Given the description of an element on the screen output the (x, y) to click on. 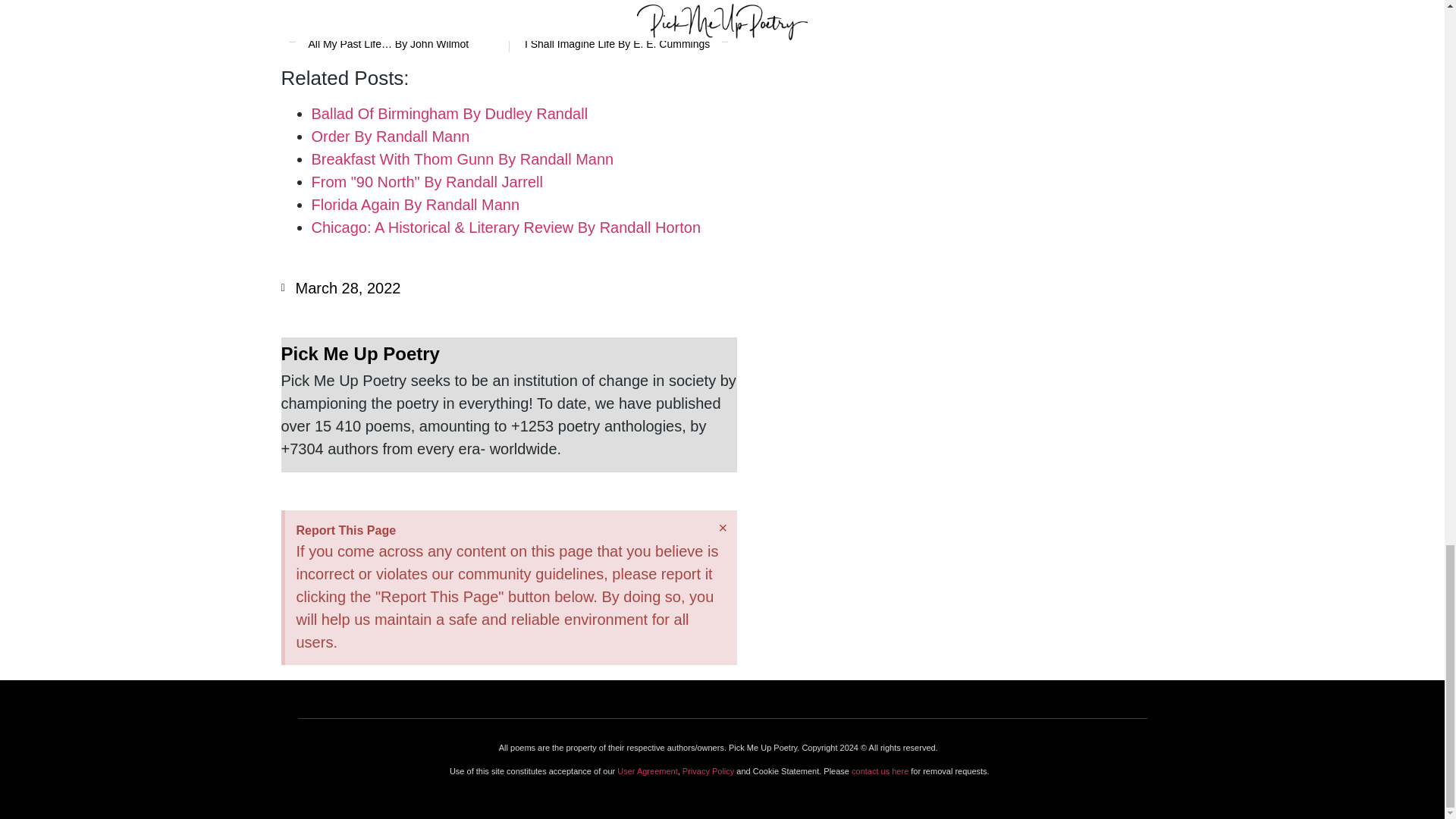
Order By Randall Mann (389, 135)
From "90 North" By Randall Jarrell (426, 181)
Pick Me Up Poetry (508, 354)
Ballad Of Birmingham By Dudley Randall (619, 35)
Florida Again By Randall Mann (449, 113)
March 28, 2022 (415, 204)
Breakfast With Thom Gunn By Randall Mann (340, 287)
